Given the description of an element on the screen output the (x, y) to click on. 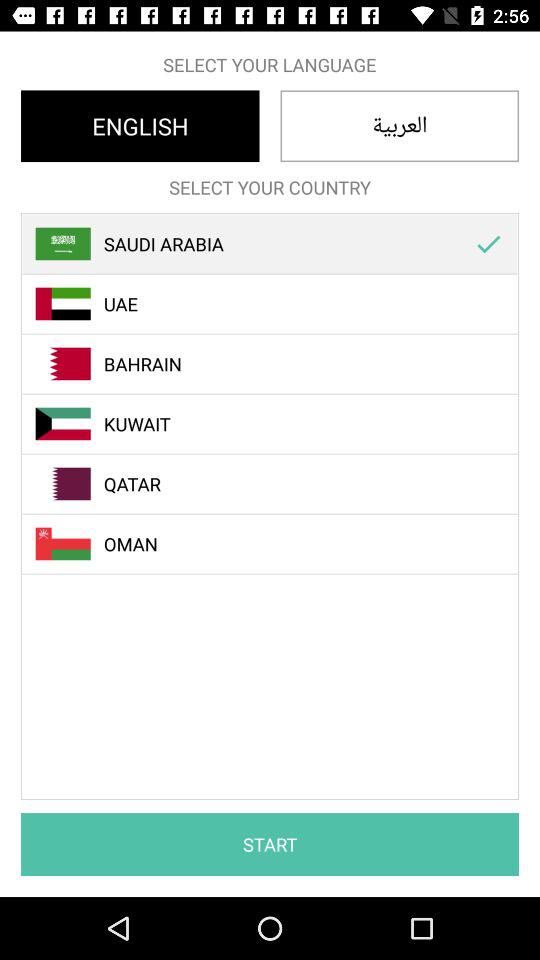
press the item below the bahrain (281, 423)
